Given the description of an element on the screen output the (x, y) to click on. 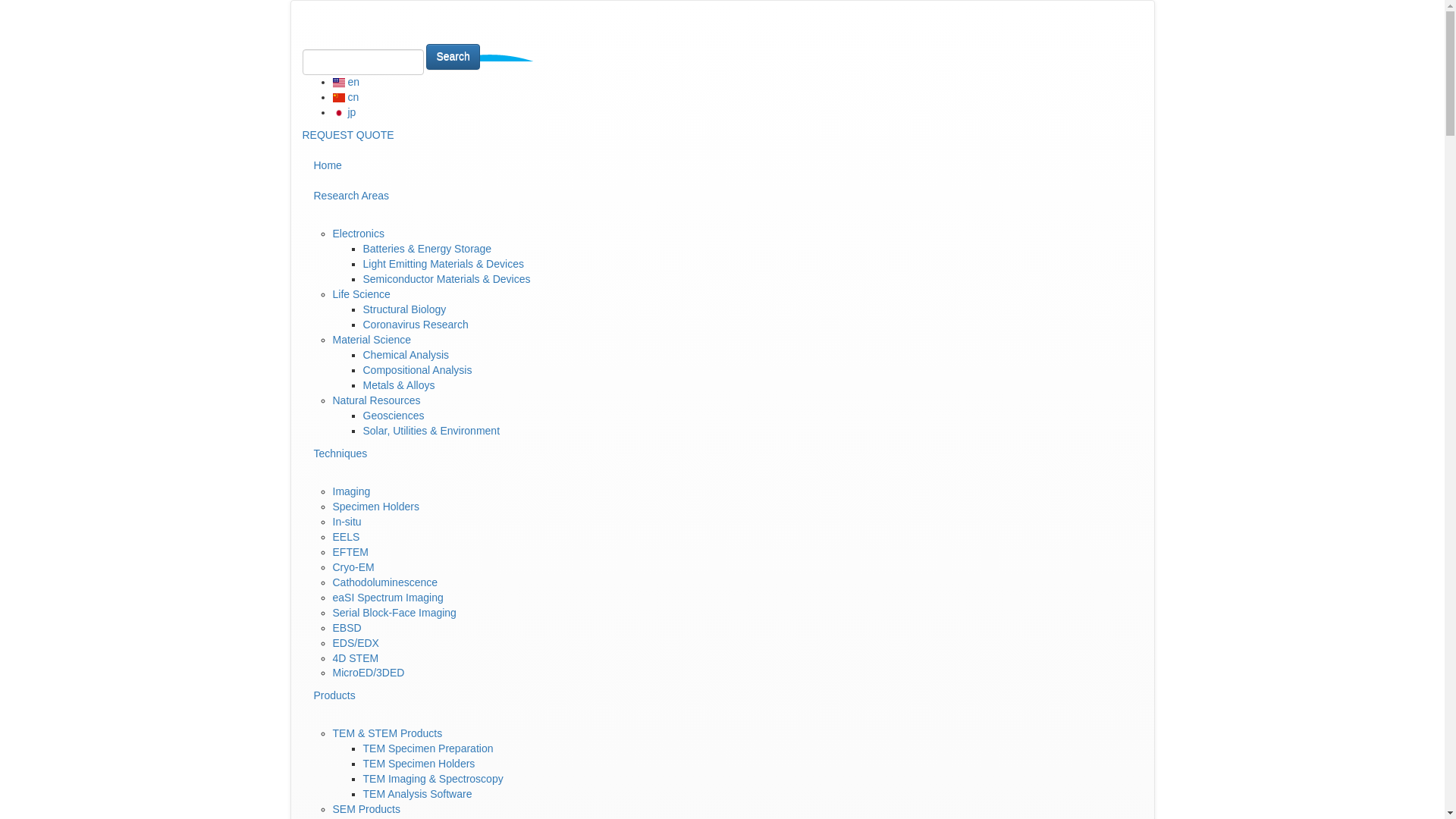
jp (337, 112)
Home (721, 165)
jp (343, 111)
Electronics (357, 233)
Chemical Analysis (405, 354)
Compositional Analysis (416, 369)
Life Science (360, 294)
cn (344, 96)
Cryo-EM (352, 567)
